Given the description of an element on the screen output the (x, y) to click on. 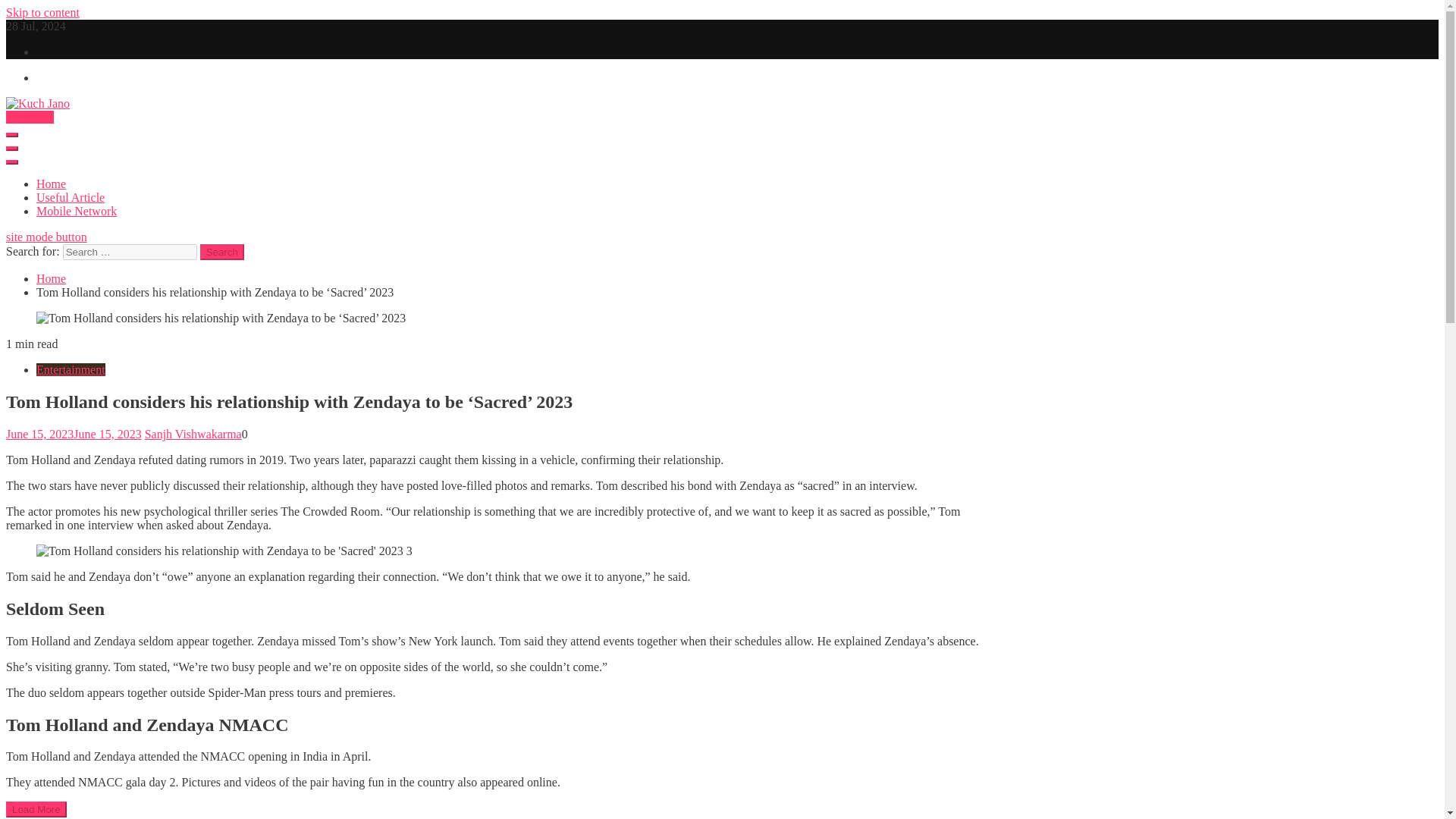
Skip to content (42, 11)
Load More (35, 809)
Entertainment (70, 369)
Subscribe (29, 116)
Kuch Jano (33, 128)
Home (50, 183)
Search (222, 252)
site mode button (46, 236)
Home (50, 278)
Sanjh Vishwakarma (192, 433)
June 15, 2023June 15, 2023 (73, 433)
Useful Article (70, 196)
Search (222, 252)
